Given the description of an element on the screen output the (x, y) to click on. 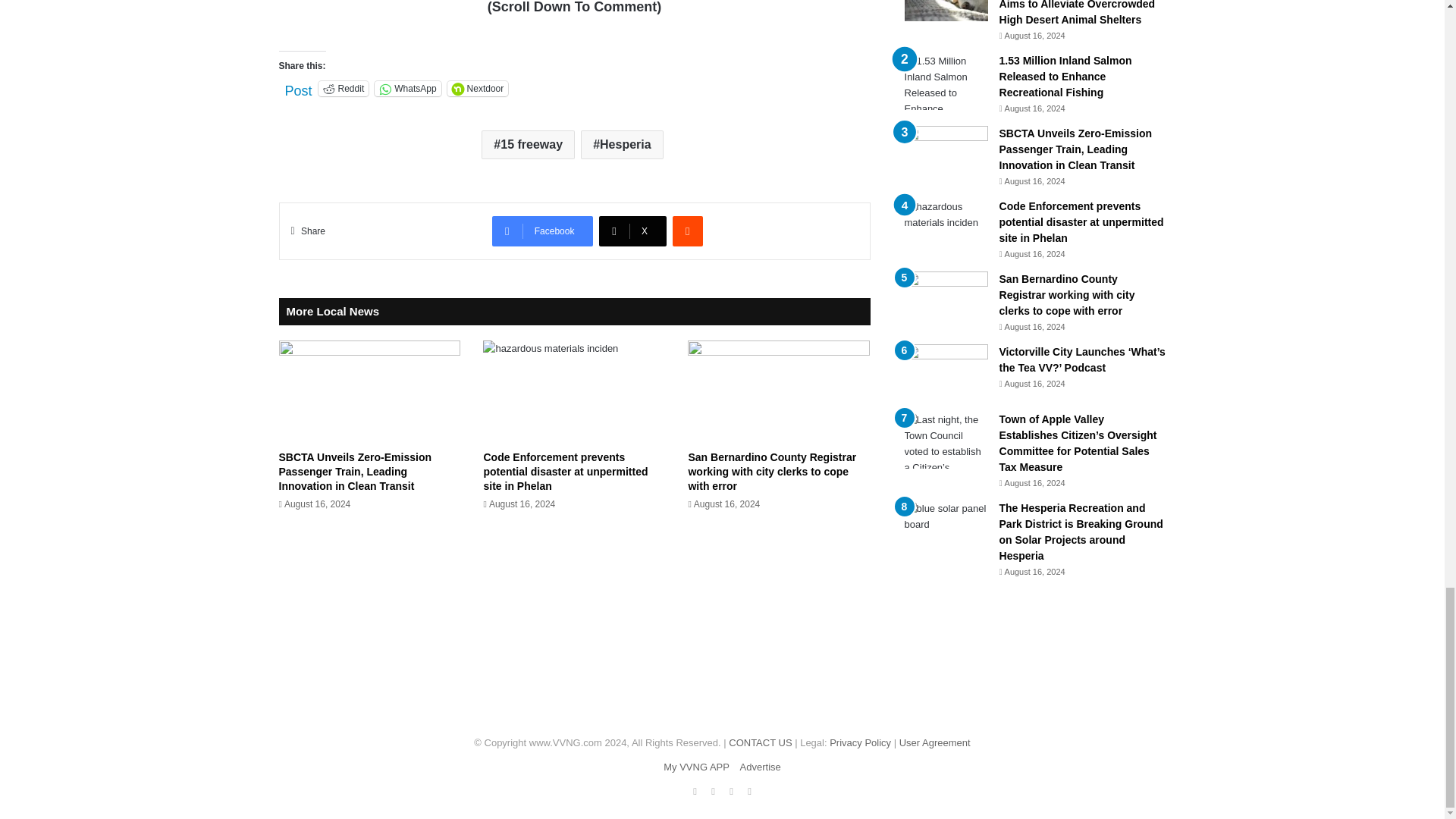
Click to share on Nextdoor (477, 88)
Click to share on Reddit (343, 88)
Click to share on WhatsApp (407, 88)
